Given the description of an element on the screen output the (x, y) to click on. 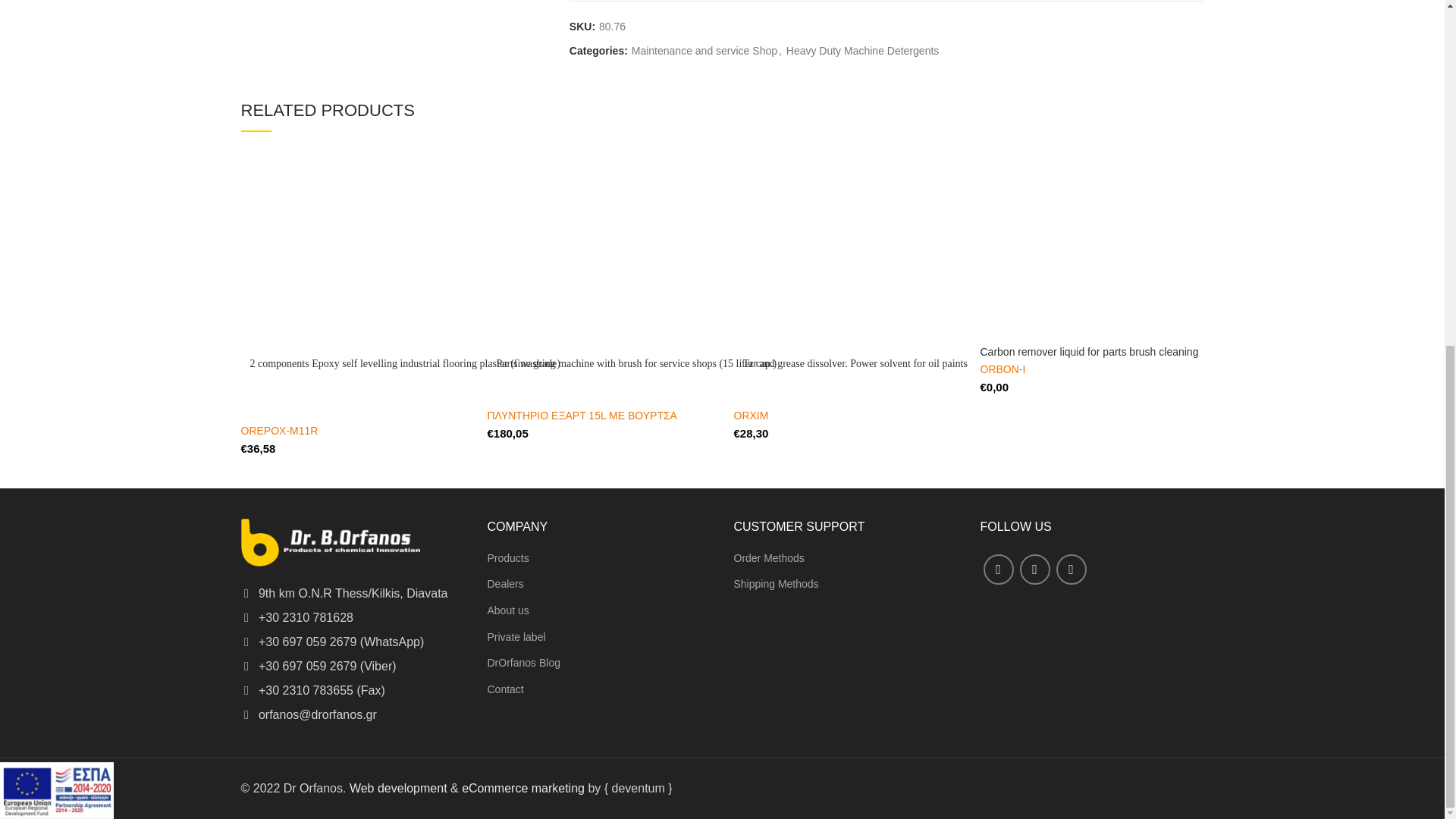
Web development (397, 788)
eCommerce marketing (523, 788)
